Given the description of an element on the screen output the (x, y) to click on. 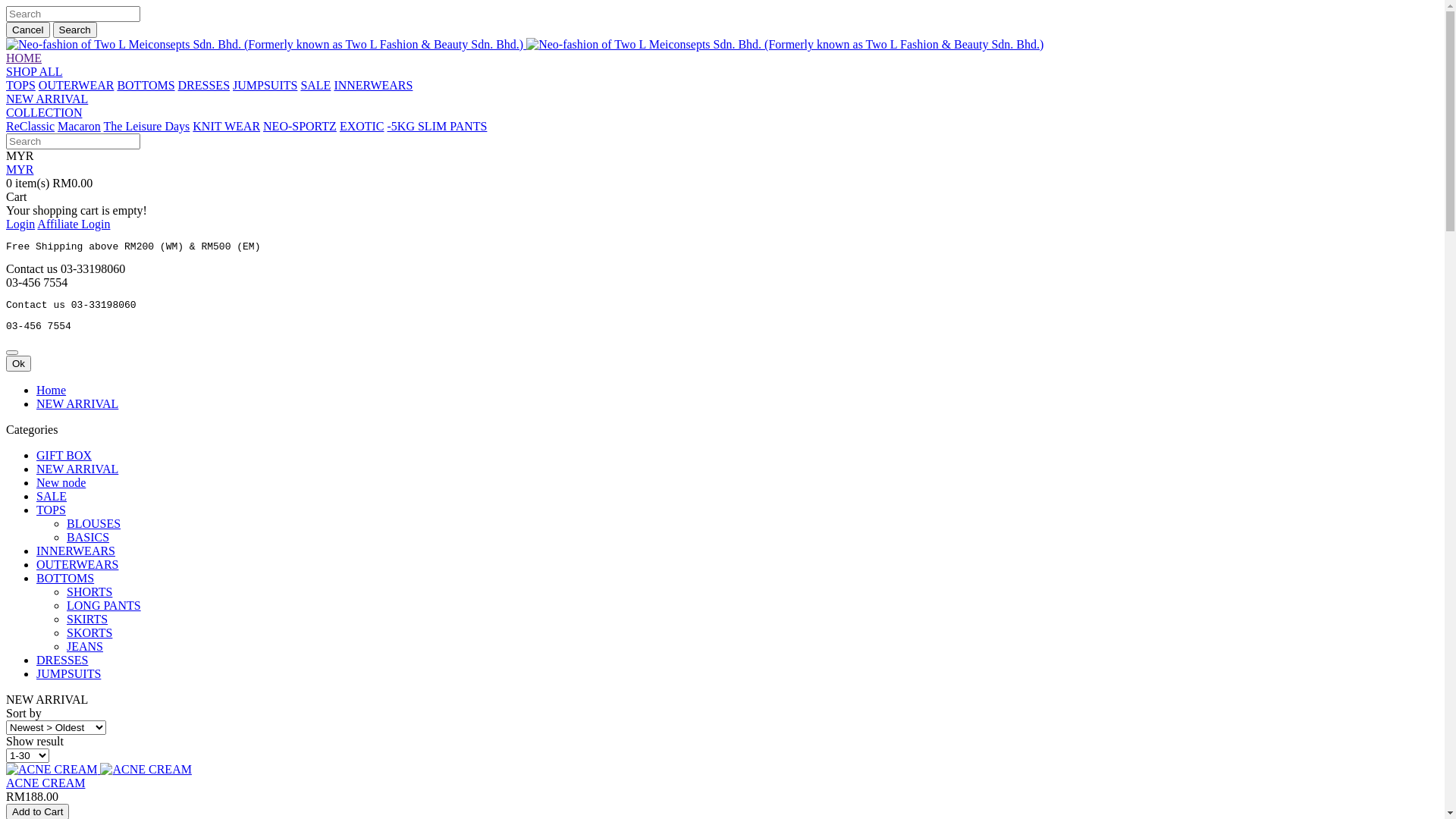
BOTTOMS Element type: text (65, 577)
Search Element type: text (75, 29)
GIFT BOX Element type: text (63, 454)
EXOTIC Element type: text (361, 125)
-5KG SLIM PANTS Element type: text (437, 125)
OUTERWEAR Element type: text (76, 84)
BASICS Element type: text (87, 536)
JEANS Element type: text (84, 646)
NEW ARRIVAL Element type: text (77, 468)
OUTERWEARS Element type: text (77, 564)
ACNE CREAM Element type: text (45, 782)
INNERWEARS Element type: text (372, 84)
BLOUSES Element type: text (93, 523)
ReClassic Element type: text (30, 125)
SHORTS Element type: text (89, 591)
DRESSES Element type: text (203, 84)
Cancel Element type: text (28, 29)
NEW ARRIVAL Element type: text (77, 403)
DRESSES Element type: text (61, 659)
MYR Element type: text (19, 169)
Macaron Element type: text (78, 125)
INNERWEARS Element type: text (75, 550)
BOTTOMS Element type: text (145, 84)
NEO-SPORTZ Element type: text (299, 125)
SKIRTS Element type: text (86, 618)
SALE Element type: text (51, 495)
JUMPSUITS Element type: text (264, 84)
JUMPSUITS Element type: text (68, 673)
KNIT WEAR Element type: text (226, 125)
HOME Element type: text (23, 57)
MYR Element type: text (19, 155)
The Leisure Days Element type: text (146, 125)
Ok Element type: text (18, 363)
SHOP ALL Element type: text (34, 71)
COLLECTION Element type: text (43, 112)
Login Element type: text (20, 223)
TOPS Element type: text (20, 84)
New node Element type: text (60, 482)
SKORTS Element type: text (89, 632)
TOPS Element type: text (50, 509)
Home Element type: text (50, 389)
LONG PANTS Element type: text (103, 605)
NEW ARRIVAL Element type: text (46, 98)
Affiliate Login Element type: text (73, 223)
SALE Element type: text (315, 84)
